Given the description of an element on the screen output the (x, y) to click on. 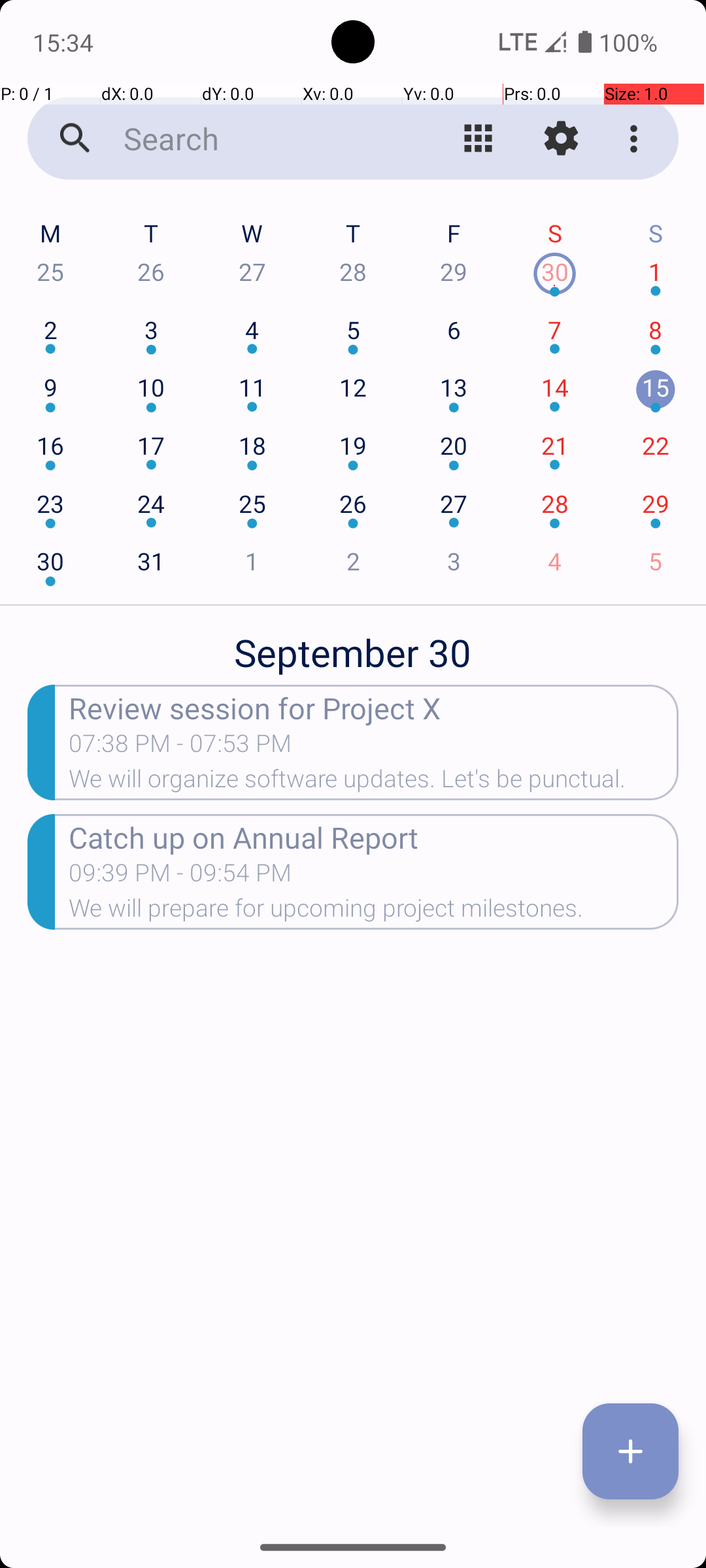
September 30 Element type: android.widget.TextView (352, 644)
07:38 PM - 07:53 PM Element type: android.widget.TextView (179, 747)
We will organize software updates. Let's be punctual. Element type: android.widget.TextView (373, 782)
09:39 PM - 09:54 PM Element type: android.widget.TextView (250, 876)
We will prepare for upcoming project milestones. Element type: android.widget.TextView (373, 911)
